Given the description of an element on the screen output the (x, y) to click on. 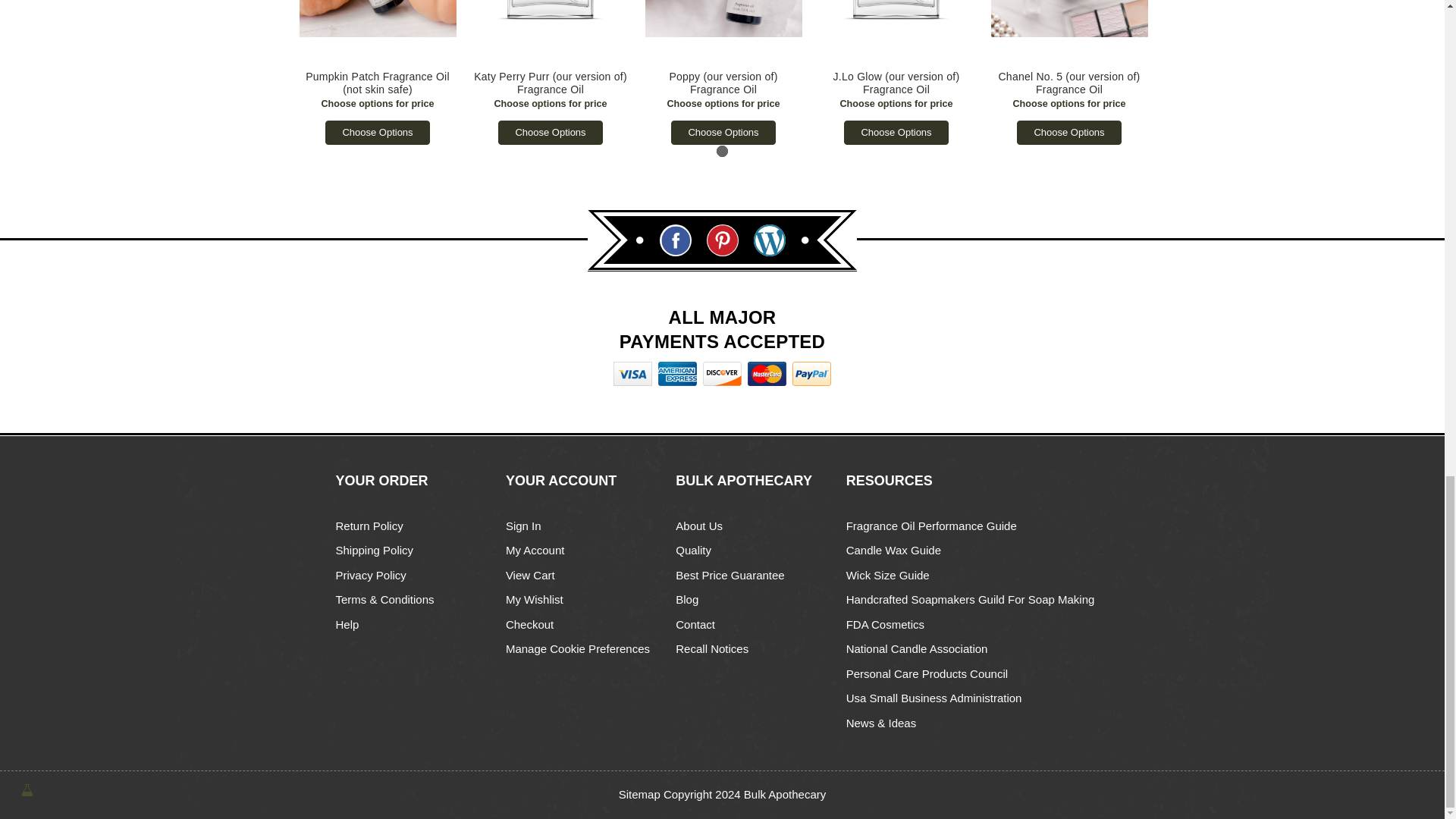
My Wishlist (534, 599)
Sign In (523, 525)
Manage Cookie Preferences (577, 648)
View Cart (529, 574)
My Account (534, 549)
Checkout (529, 624)
crafted with love (27, 789)
Chanel No. 5 Fragrance Oil (1068, 18)
